Given the description of an element on the screen output the (x, y) to click on. 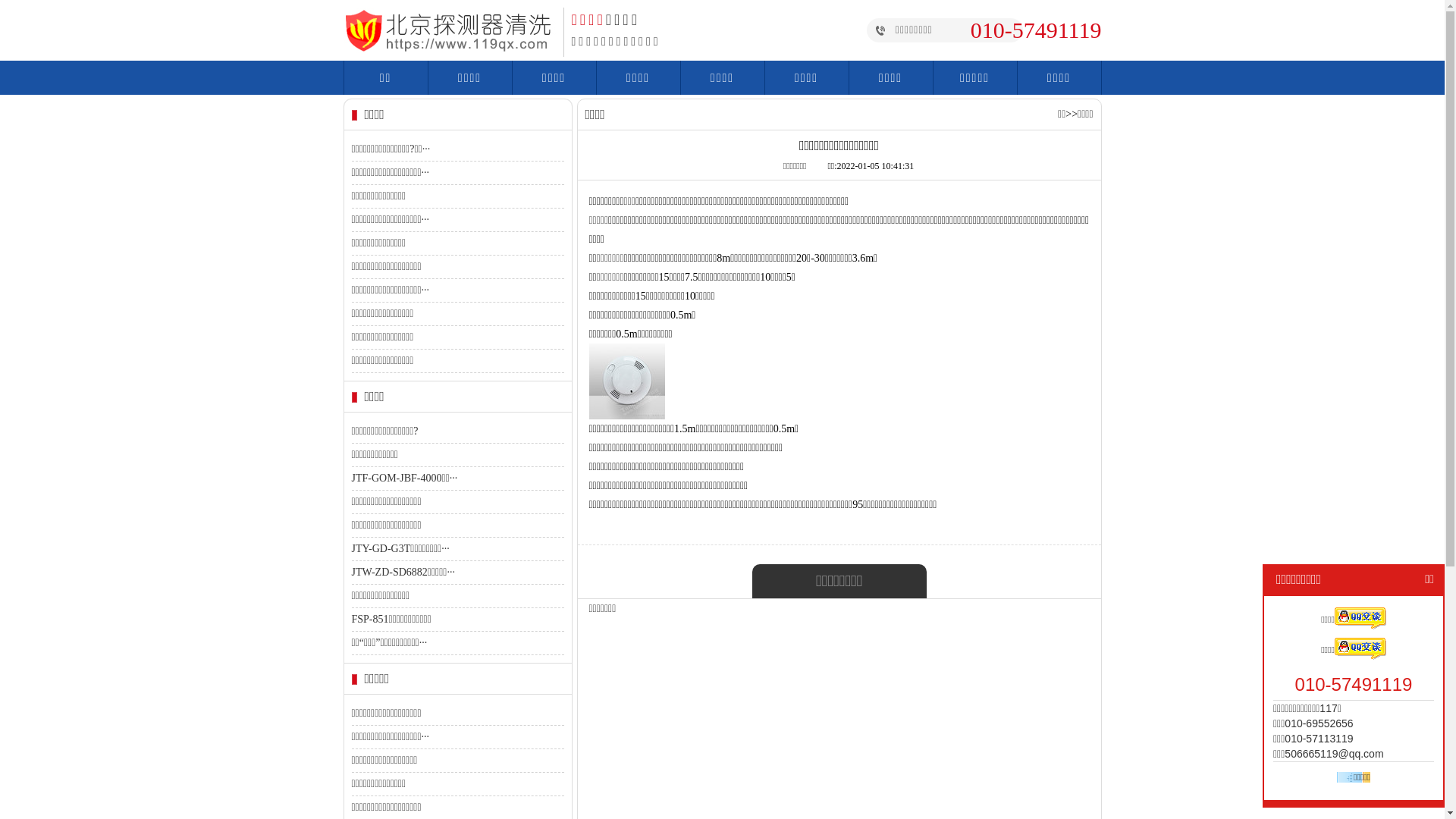
1641353643611577.jpg Element type: hover (626, 381)
